Given the description of an element on the screen output the (x, y) to click on. 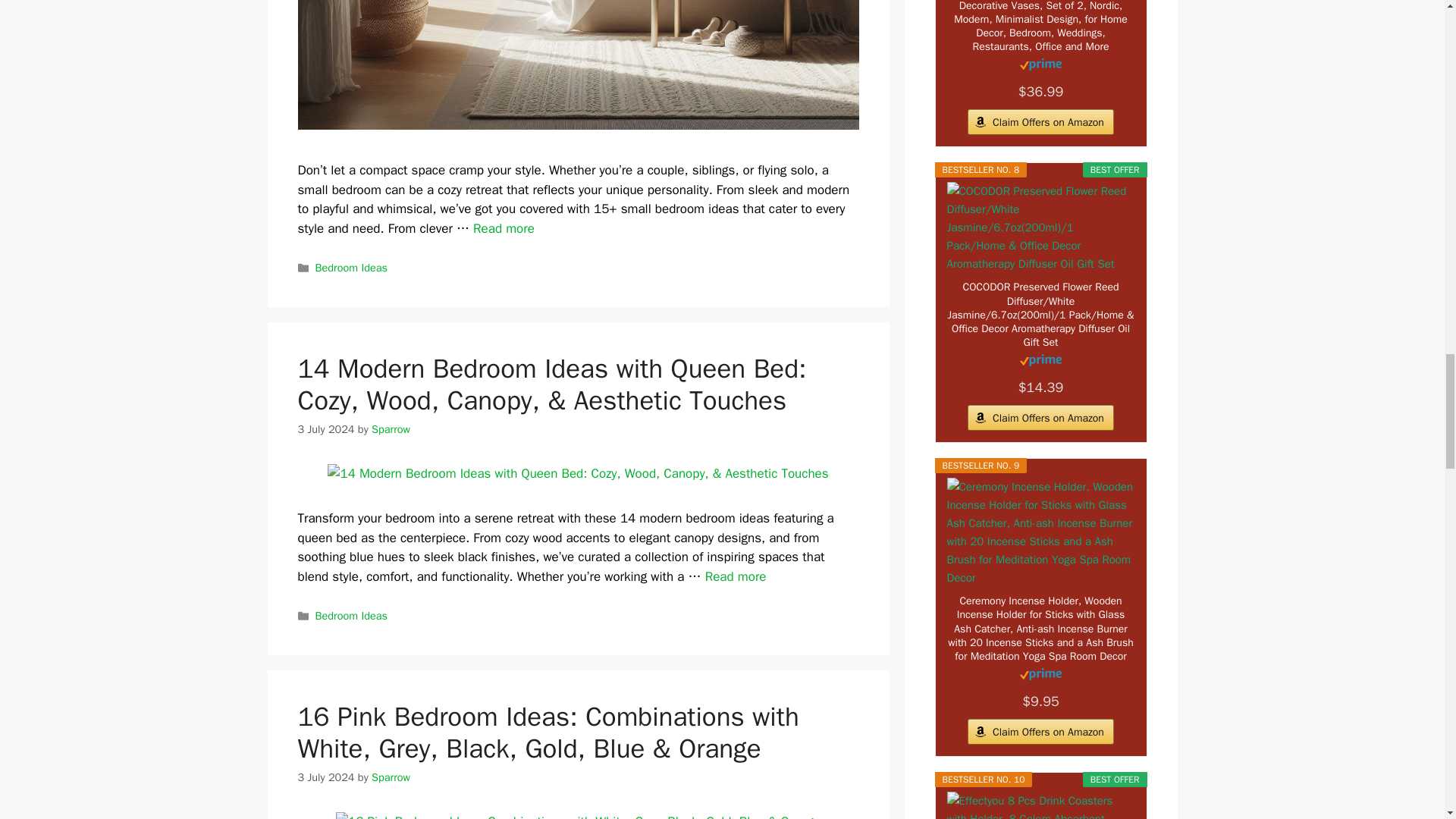
Bedroom Ideas (351, 615)
Read more (503, 228)
Sparrow (390, 776)
Bedroom Ideas (351, 267)
View all posts by Sparrow (390, 428)
Sparrow (390, 428)
View all posts by Sparrow (390, 776)
Read more (735, 576)
